Given the description of an element on the screen output the (x, y) to click on. 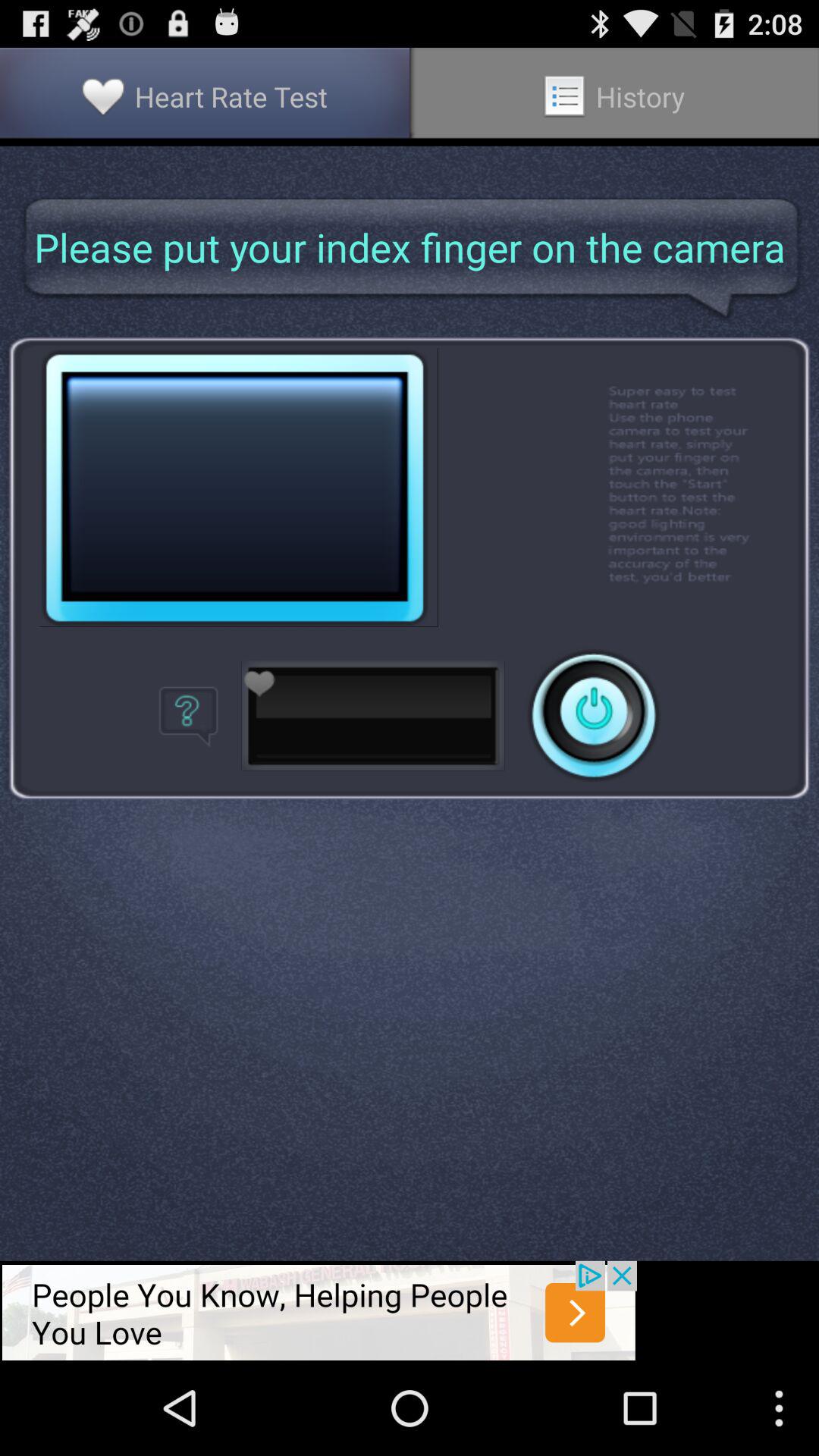
advadisement (318, 1310)
